Given the description of an element on the screen output the (x, y) to click on. 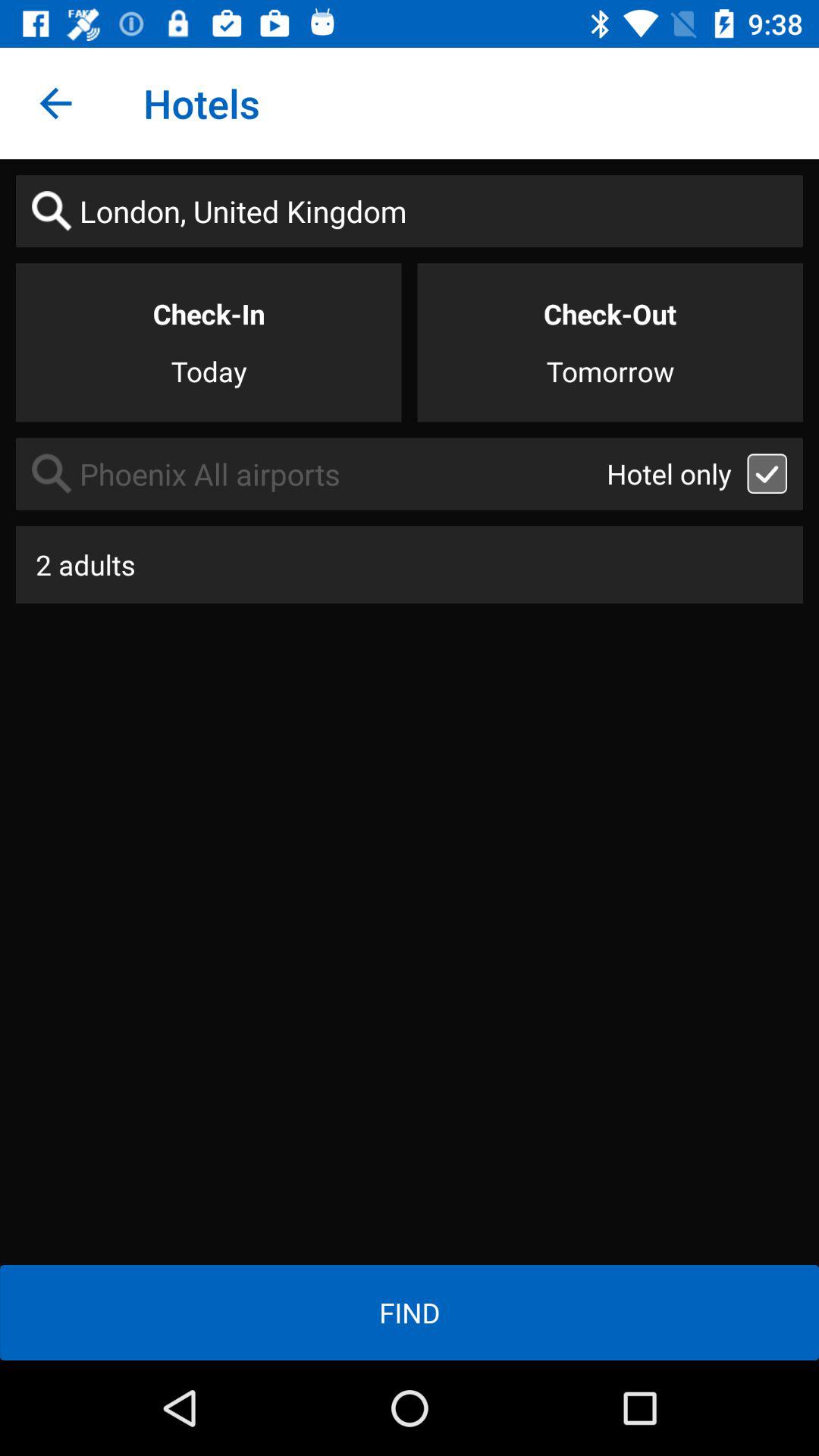
only look for hotels (767, 473)
